Given the description of an element on the screen output the (x, y) to click on. 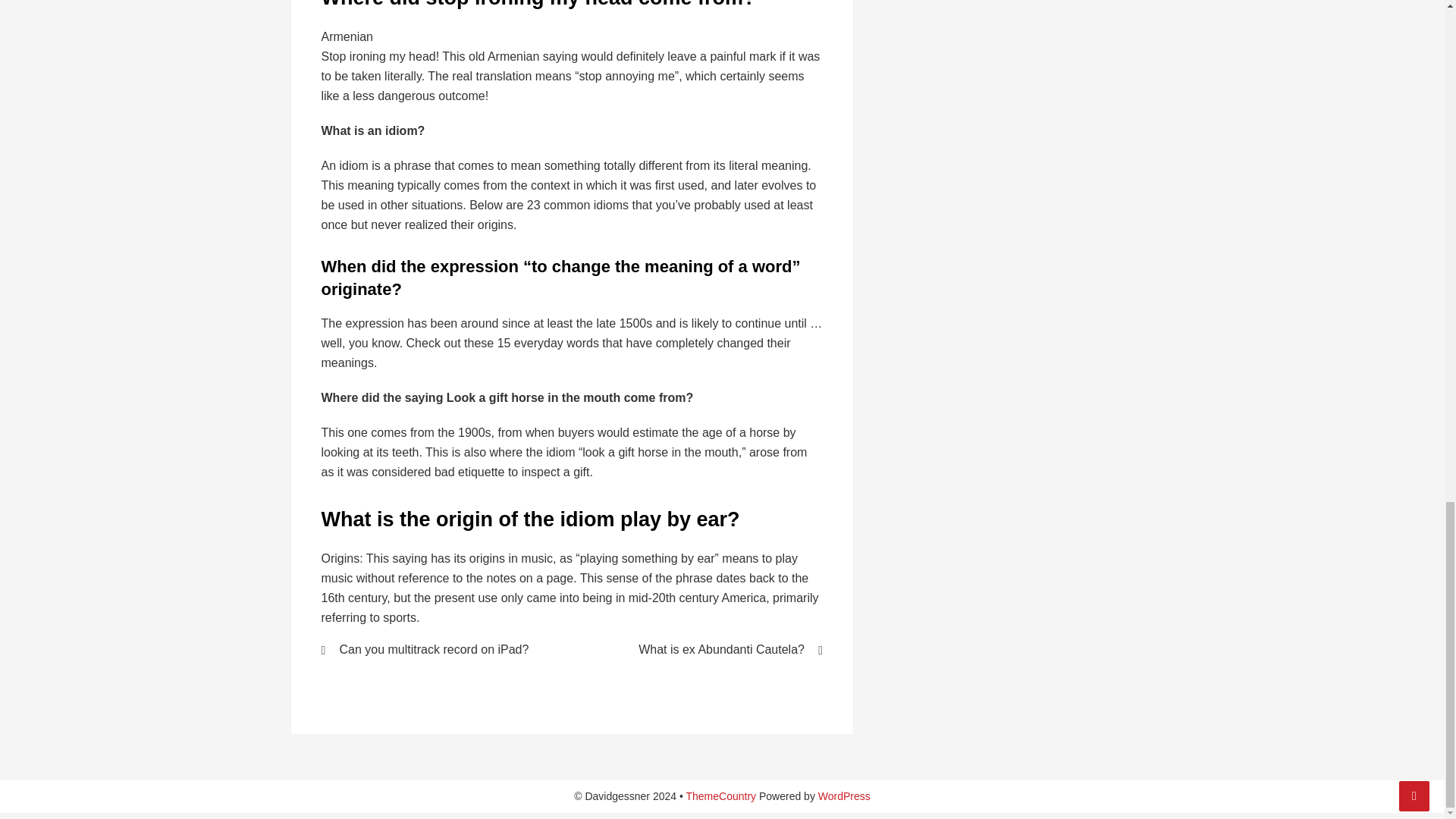
Can you multitrack record on iPad? (436, 649)
What is ex Abundanti Cautela? (707, 649)
BasePress - The best free WordPress blog theme for WordPress (720, 796)
